Given the description of an element on the screen output the (x, y) to click on. 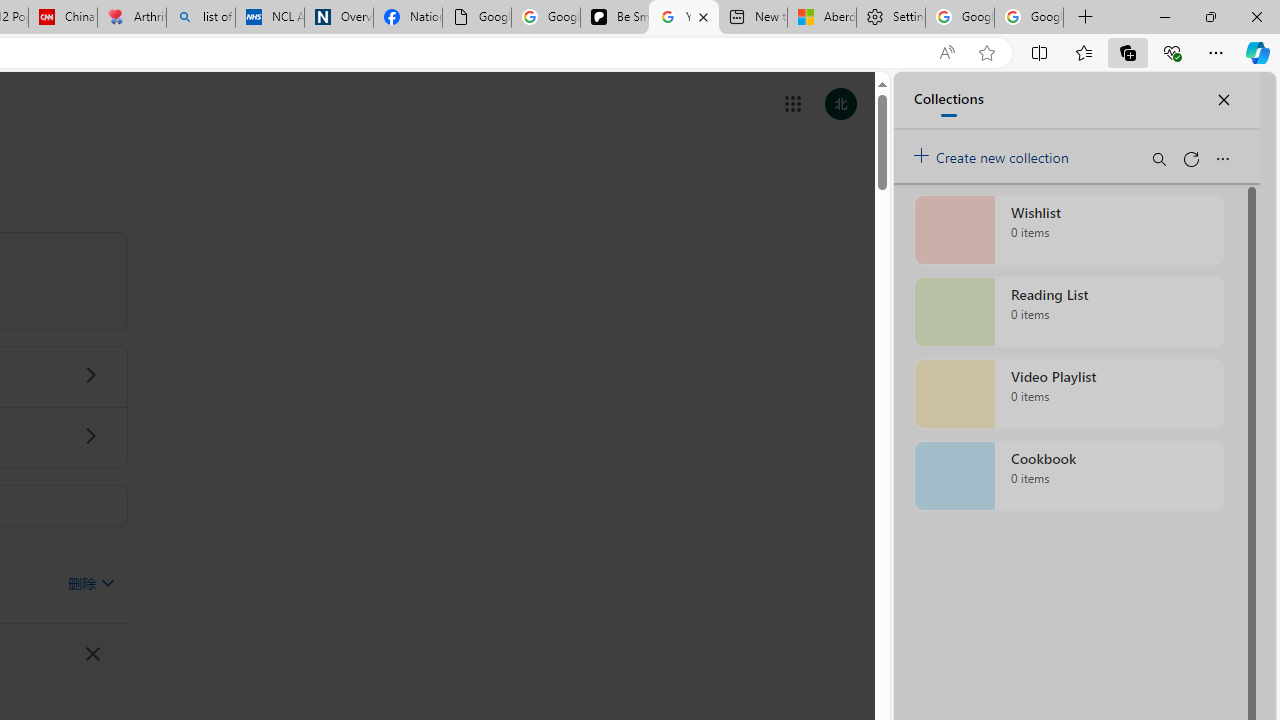
Google Analytics Opt-out Browser Add-on Download Page (476, 17)
